Given the description of an element on the screen output the (x, y) to click on. 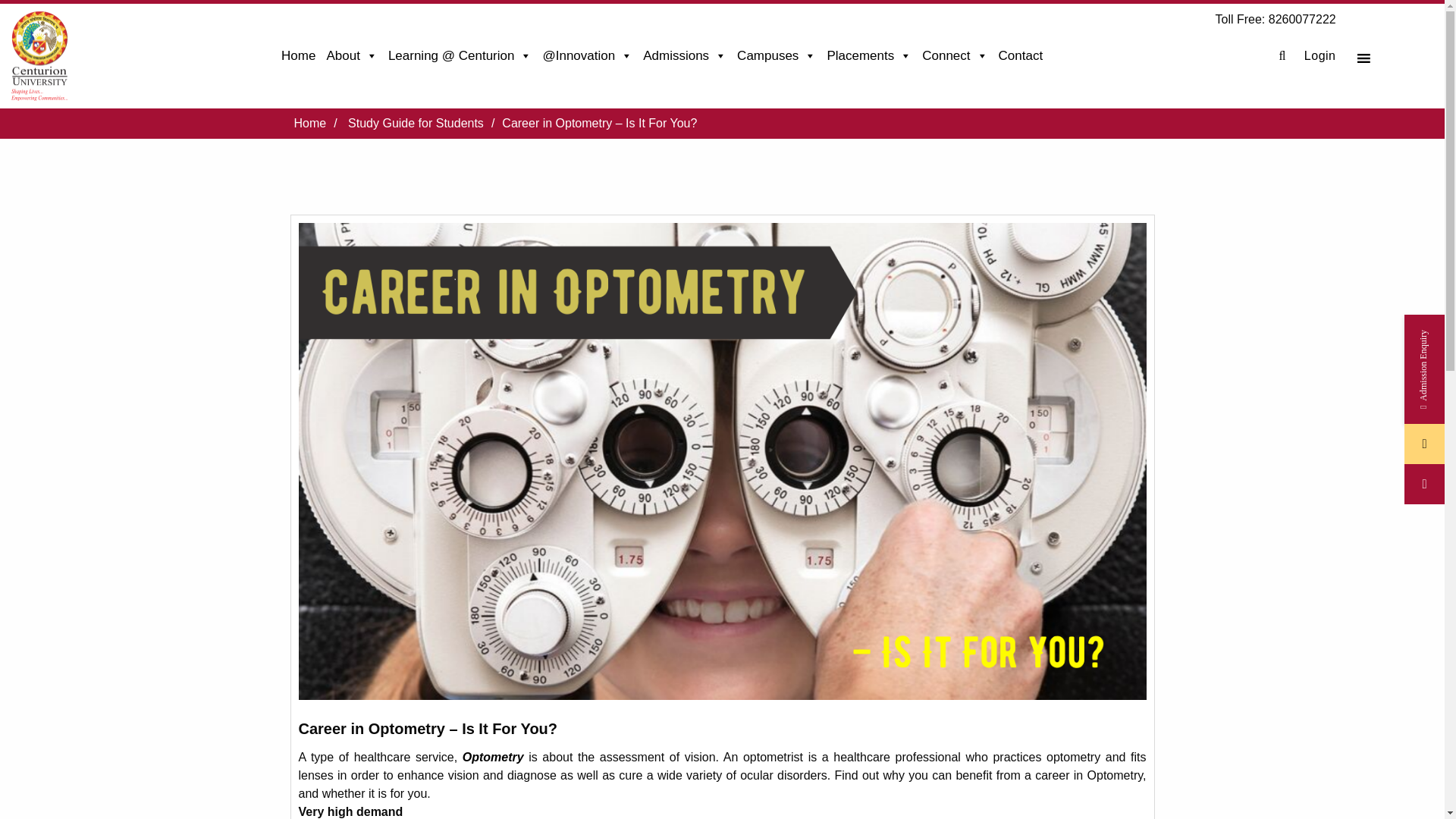
Centurion University (39, 55)
About (350, 56)
Home (298, 56)
